Given the description of an element on the screen output the (x, y) to click on. 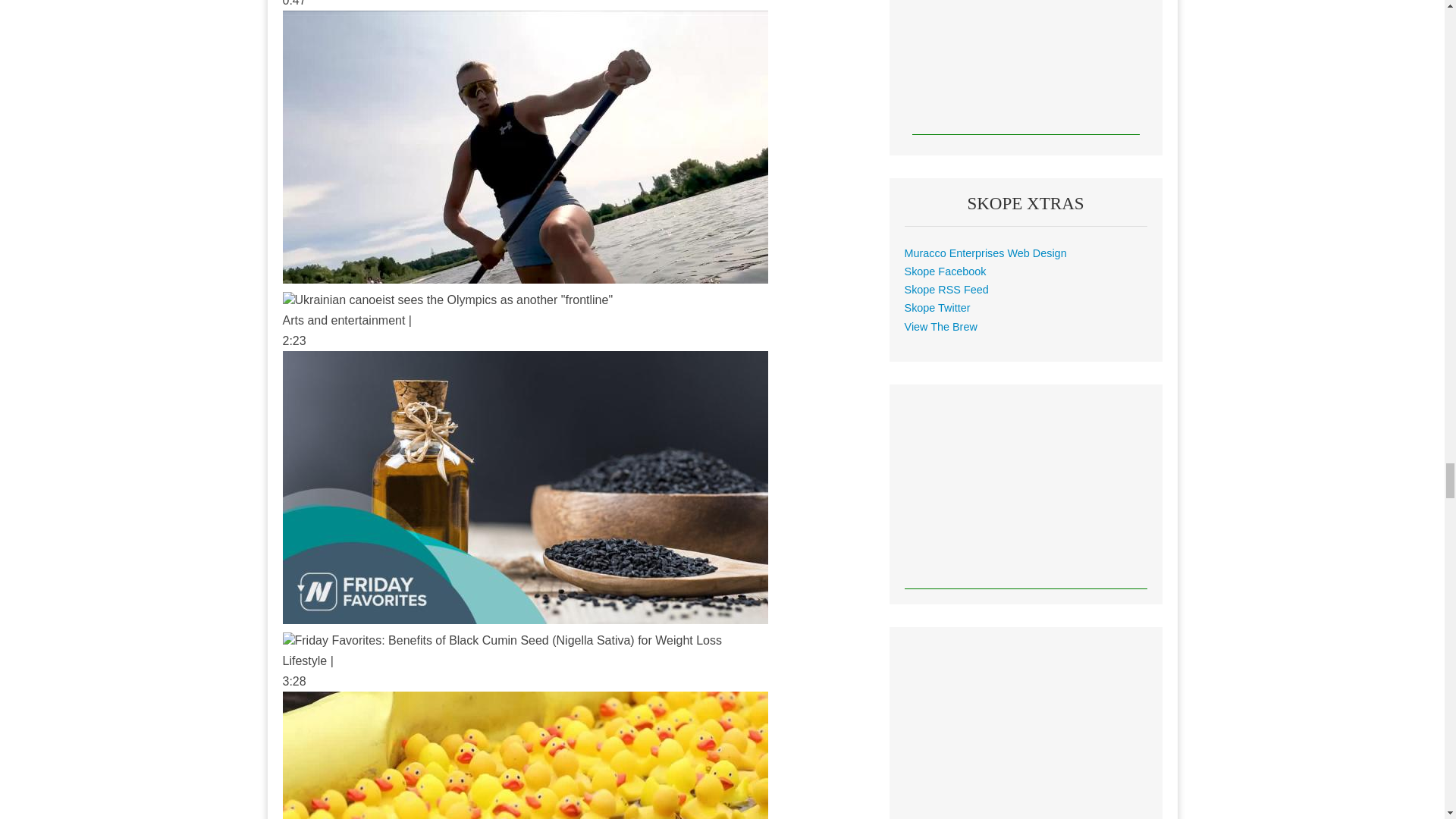
Skopemag.com RSS Feed (946, 289)
